Given the description of an element on the screen output the (x, y) to click on. 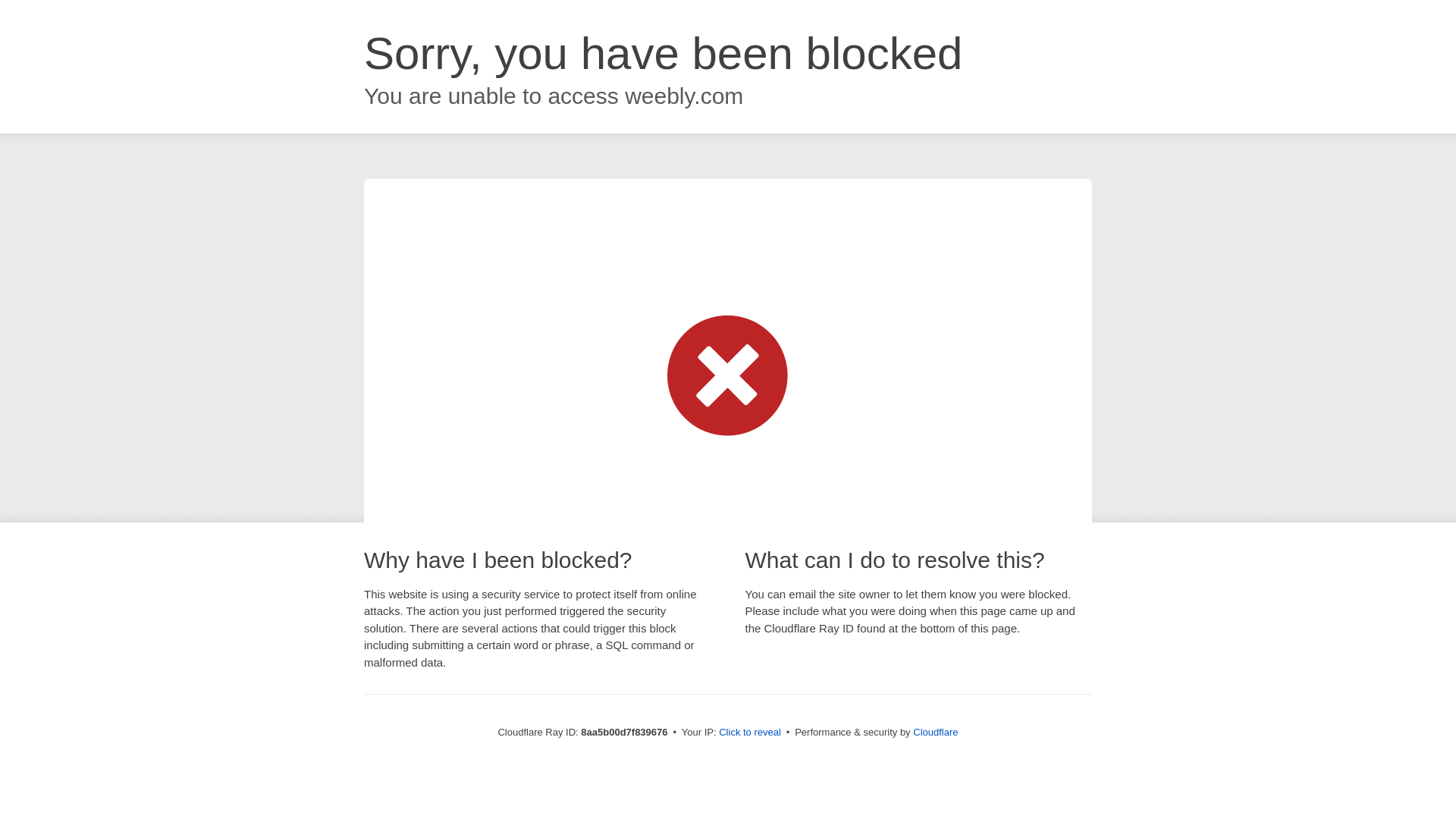
Cloudflare (935, 731)
Click to reveal (749, 732)
